Given the description of an element on the screen output the (x, y) to click on. 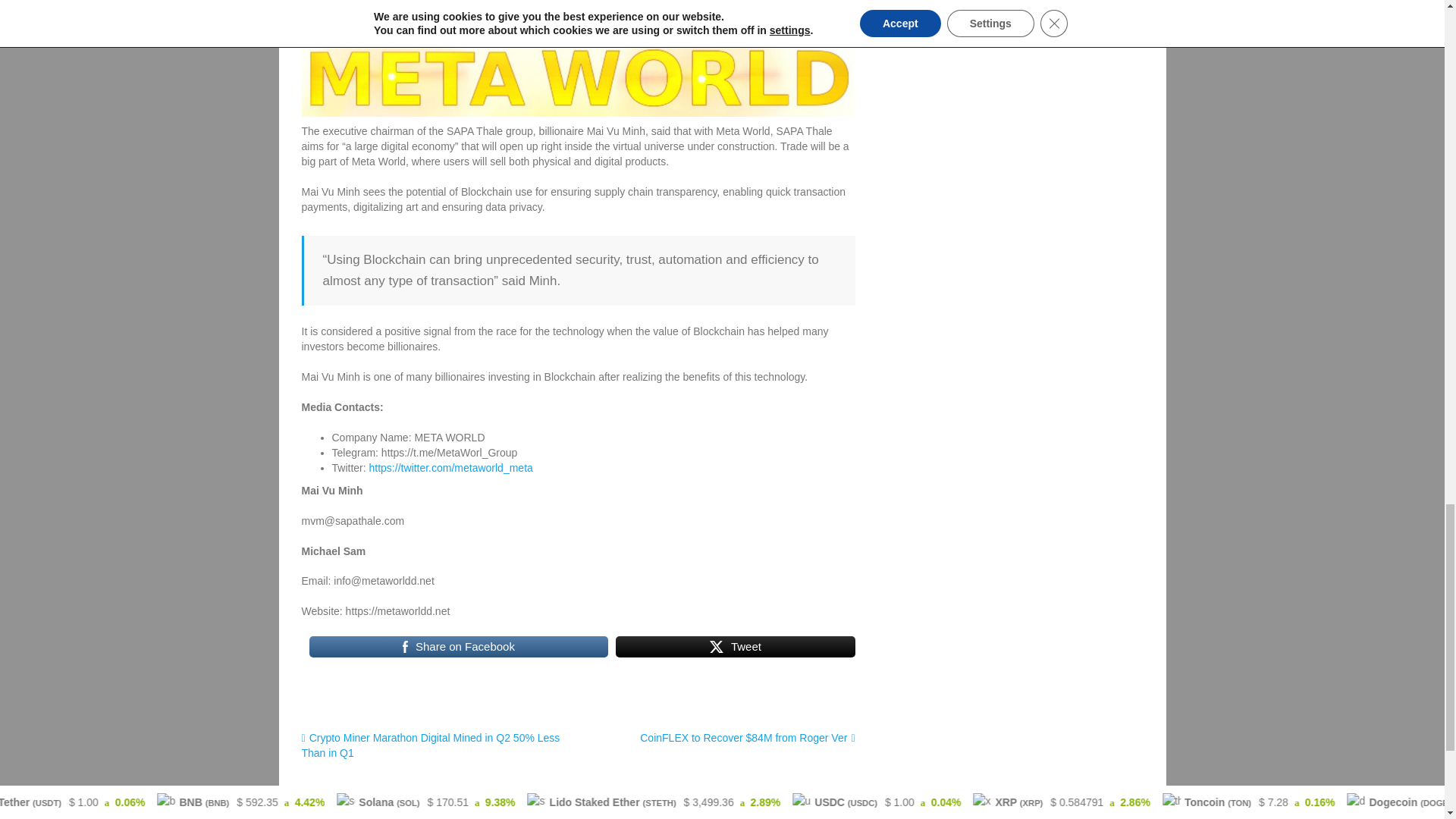
Share on Facebook (458, 646)
Tweet (734, 646)
